Given the description of an element on the screen output the (x, y) to click on. 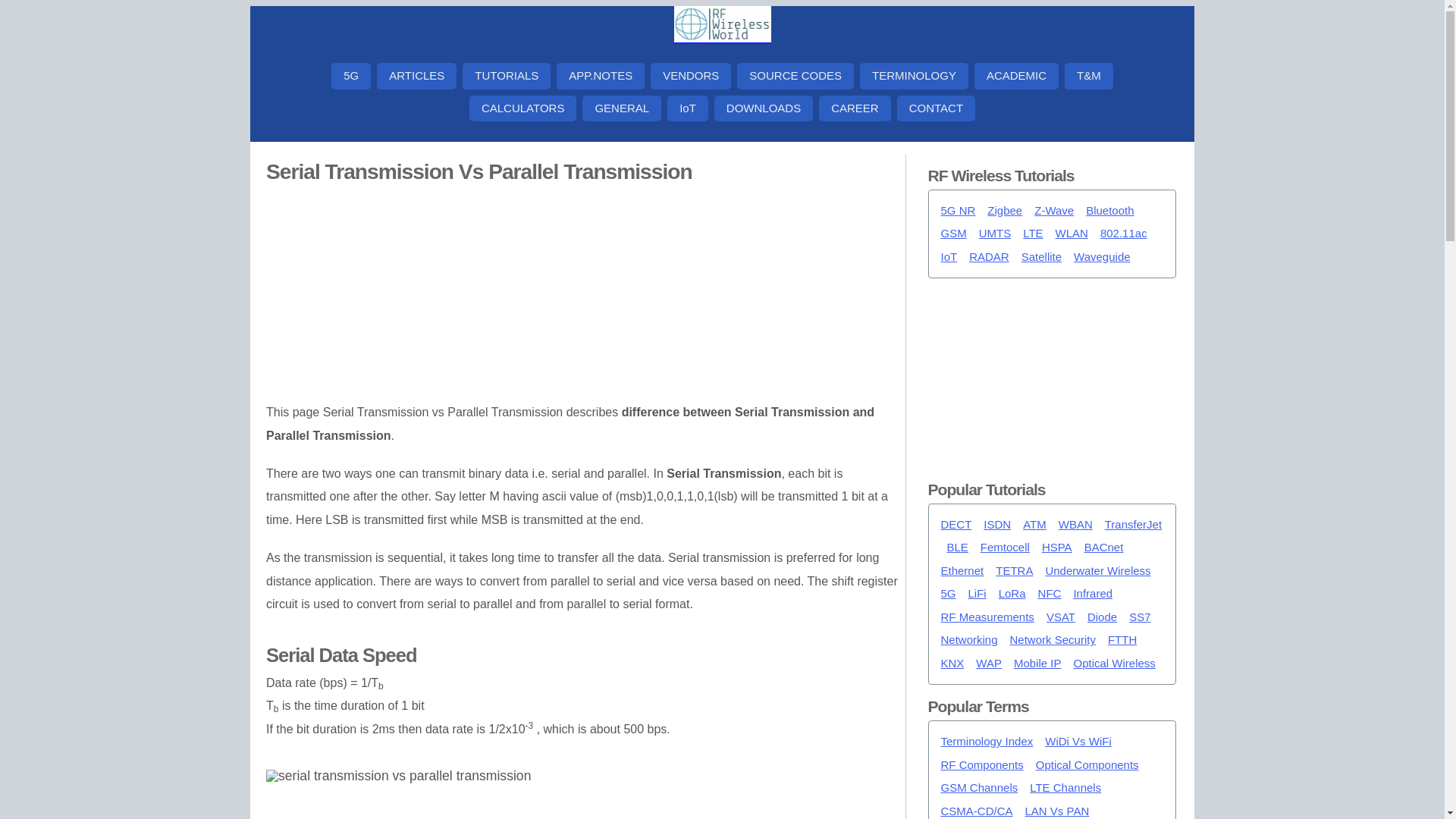
APP.NOTES (600, 76)
ACADEMIC (1016, 76)
CALCULATORS (522, 108)
TERMINOLOGY (914, 76)
SOURCE CODES (794, 76)
IoT (686, 108)
CONTACT (935, 108)
CAREER (854, 108)
DOWNLOADS (763, 108)
5G (351, 76)
GENERAL (621, 108)
Advertisement (582, 295)
ARTICLES (417, 76)
TUTORIALS (506, 76)
VENDORS (690, 76)
